Given the description of an element on the screen output the (x, y) to click on. 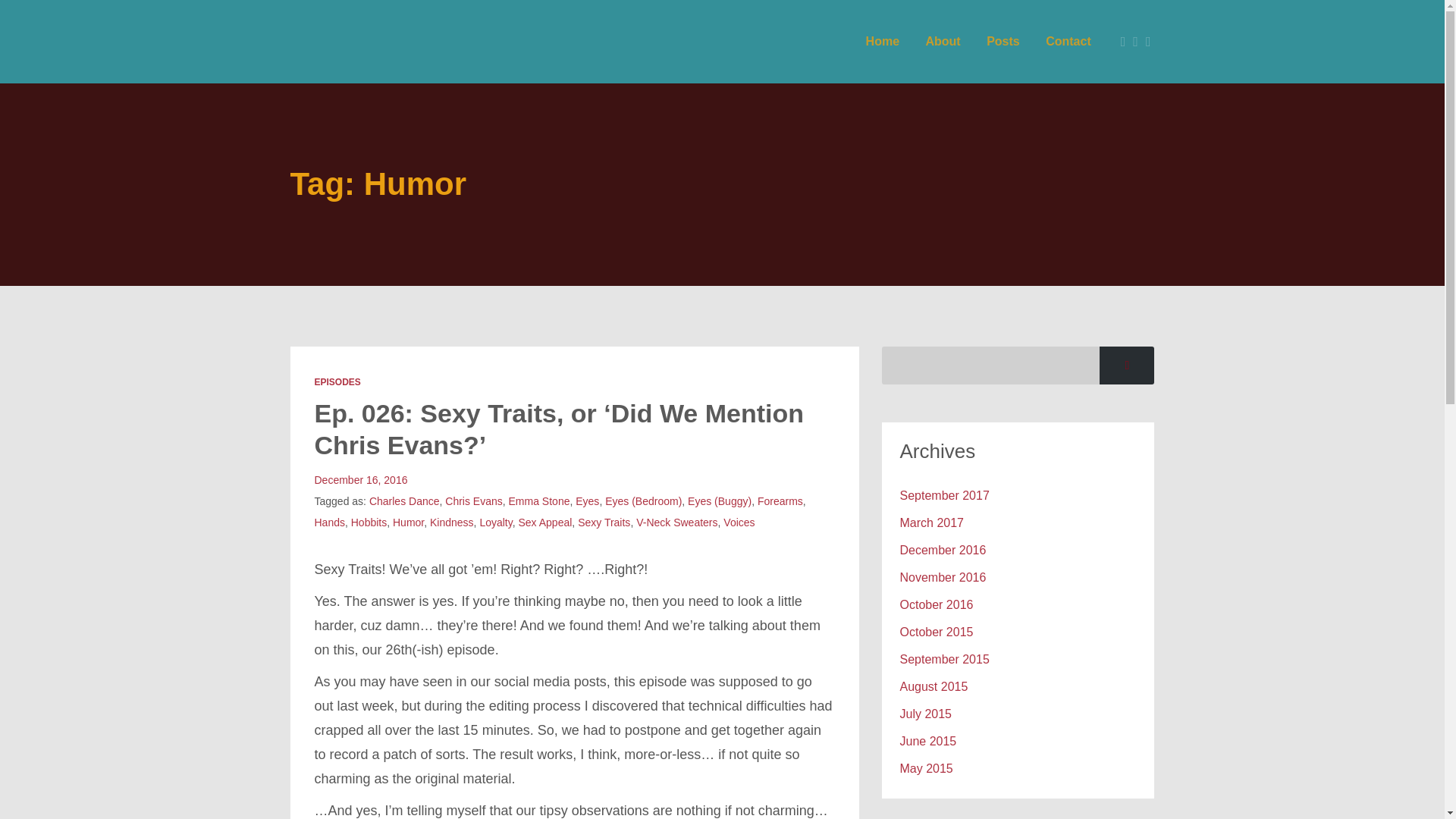
Humor (408, 522)
March 2017 (931, 522)
Charles Dance (404, 500)
V-Neck Sweaters (676, 522)
EPISODES (336, 381)
Hands (328, 522)
Forearms (780, 500)
October 2016 (935, 604)
NotPorn (389, 41)
December 16, 2016 (360, 480)
Loyalty (495, 522)
Emma Stone (539, 500)
Kindness (451, 522)
November 2016 (942, 577)
Hobbits (368, 522)
